Given the description of an element on the screen output the (x, y) to click on. 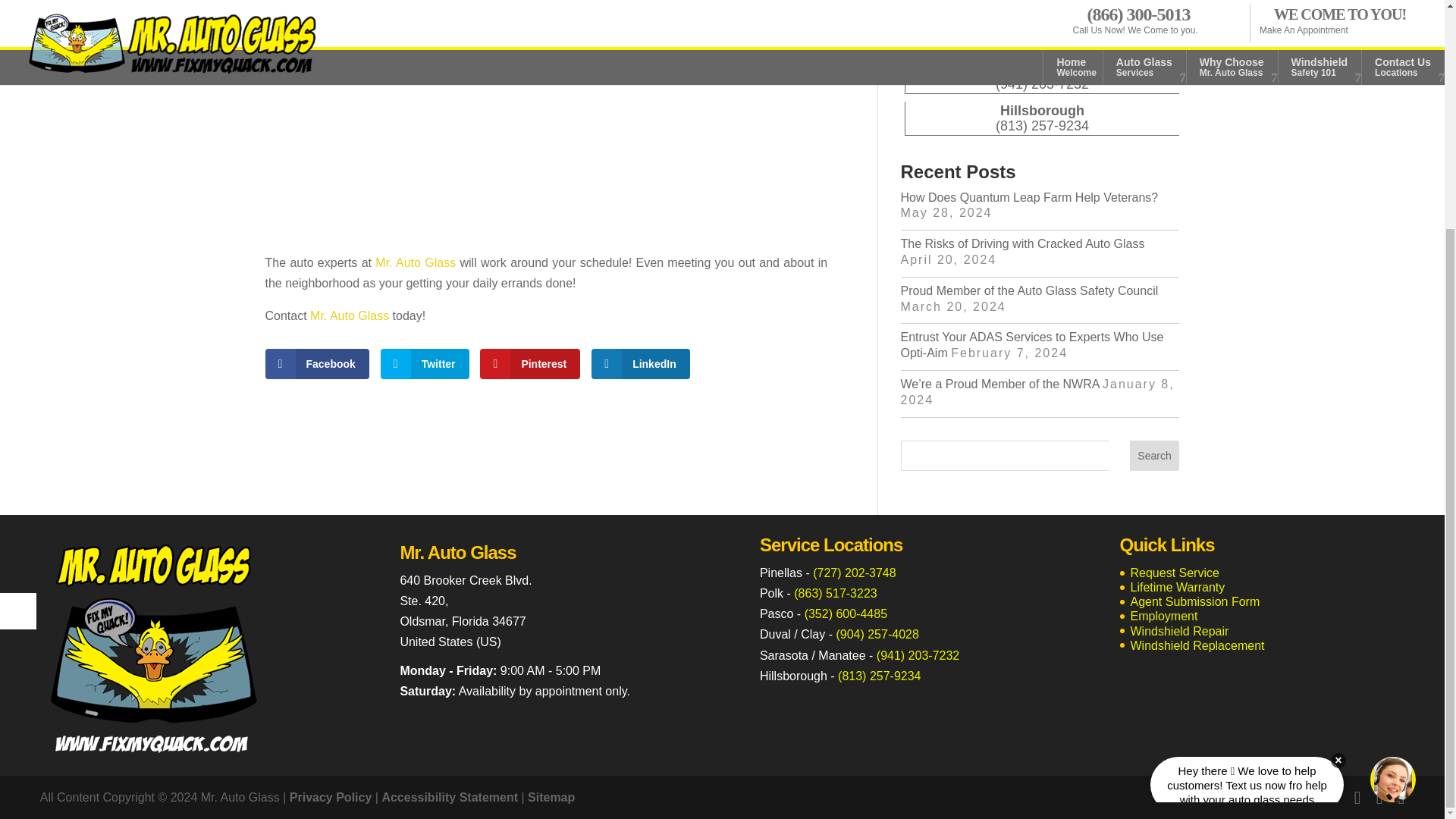
Search (1154, 455)
